Given the description of an element on the screen output the (x, y) to click on. 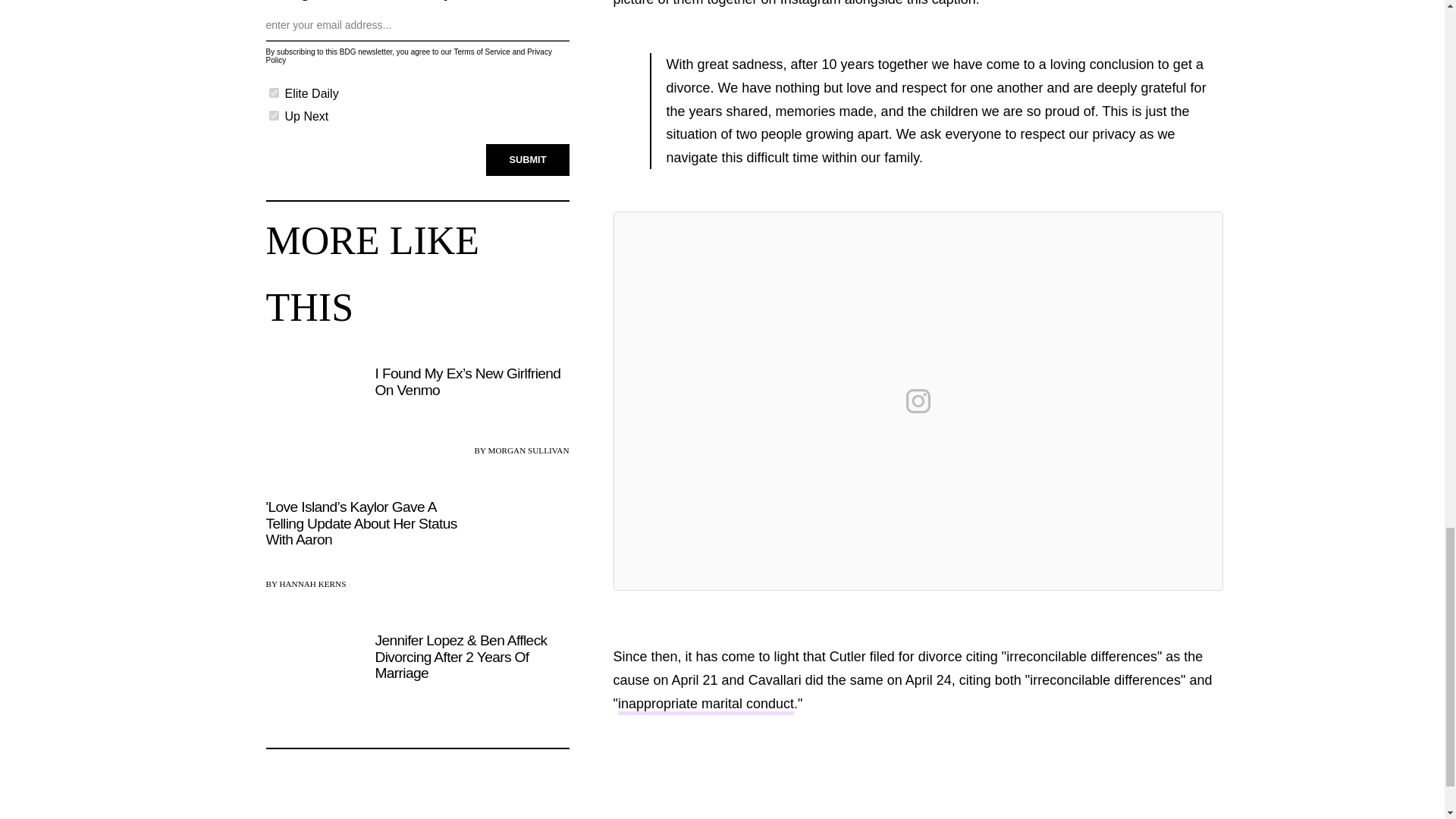
View on Instagram (917, 401)
Terms of Service (480, 51)
inappropriate marital conduct (705, 705)
Privacy Policy (407, 55)
SUBMIT (527, 159)
